Given the description of an element on the screen output the (x, y) to click on. 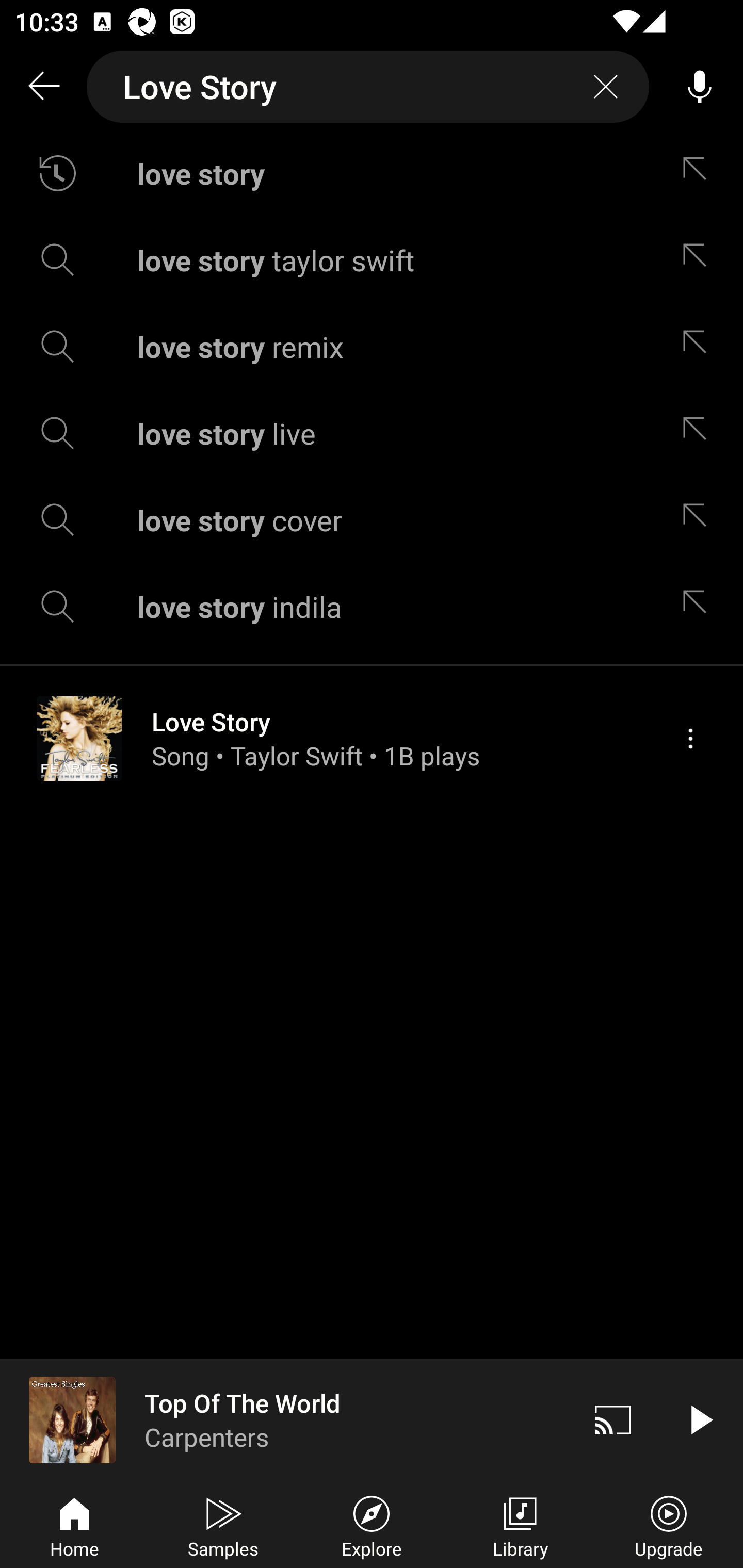
Search back (43, 86)
Love Story (367, 86)
Clear search (605, 86)
Voice search (699, 86)
love story Edit suggestion love story (371, 173)
Edit suggestion love story (699, 173)
Edit suggestion love story taylor swift (699, 259)
love story remix Edit suggestion love story remix (371, 346)
Edit suggestion love story remix (699, 346)
love story live Edit suggestion love story live (371, 433)
Edit suggestion love story live (699, 433)
love story cover Edit suggestion love story cover (371, 519)
Edit suggestion love story cover (699, 519)
Edit suggestion love story indila (699, 605)
Menu (690, 738)
Top Of The World Carpenters (284, 1419)
Cast. Disconnected (612, 1419)
Play video (699, 1419)
Home (74, 1524)
Samples (222, 1524)
Explore (371, 1524)
Library (519, 1524)
Upgrade (668, 1524)
